Given the description of an element on the screen output the (x, y) to click on. 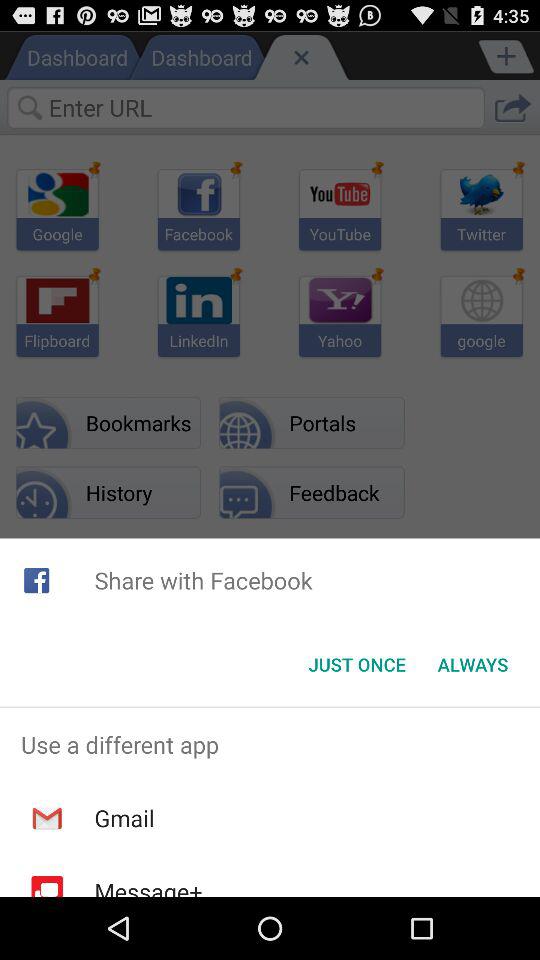
turn on the app above message+ item (124, 817)
